Given the description of an element on the screen output the (x, y) to click on. 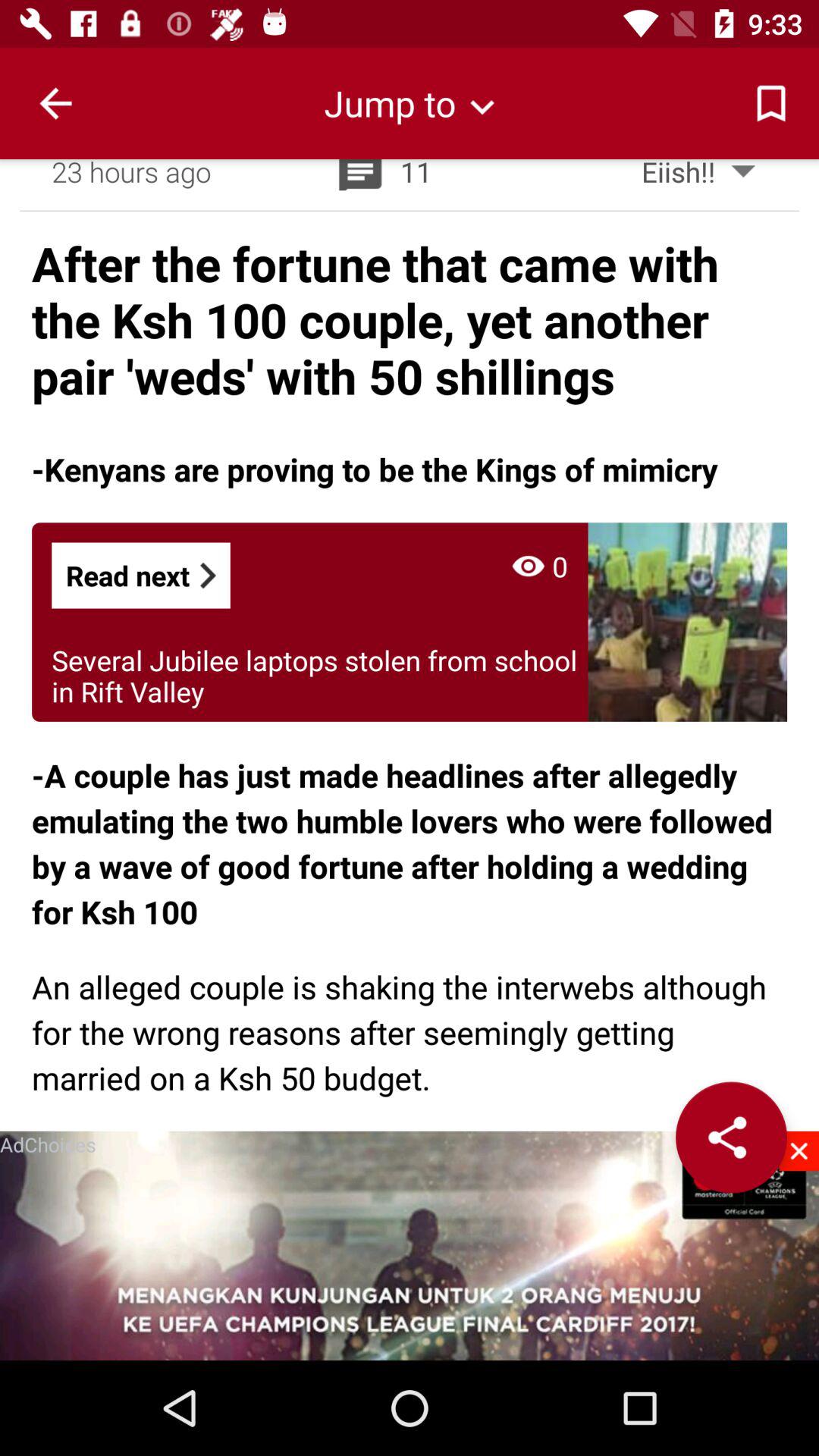
close window (799, 1151)
